Given the description of an element on the screen output the (x, y) to click on. 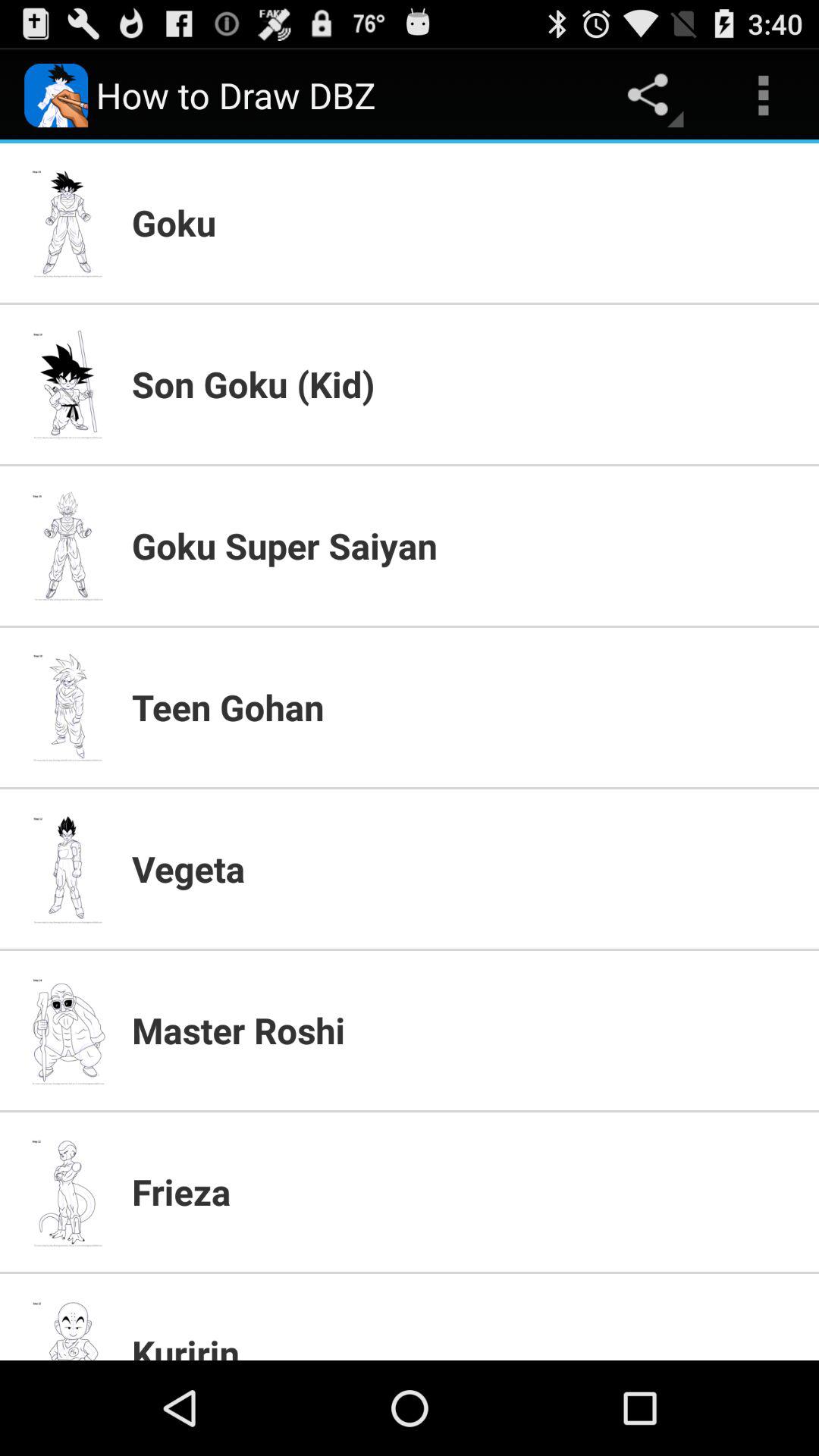
scroll to the master roshi app (465, 1030)
